Given the description of an element on the screen output the (x, y) to click on. 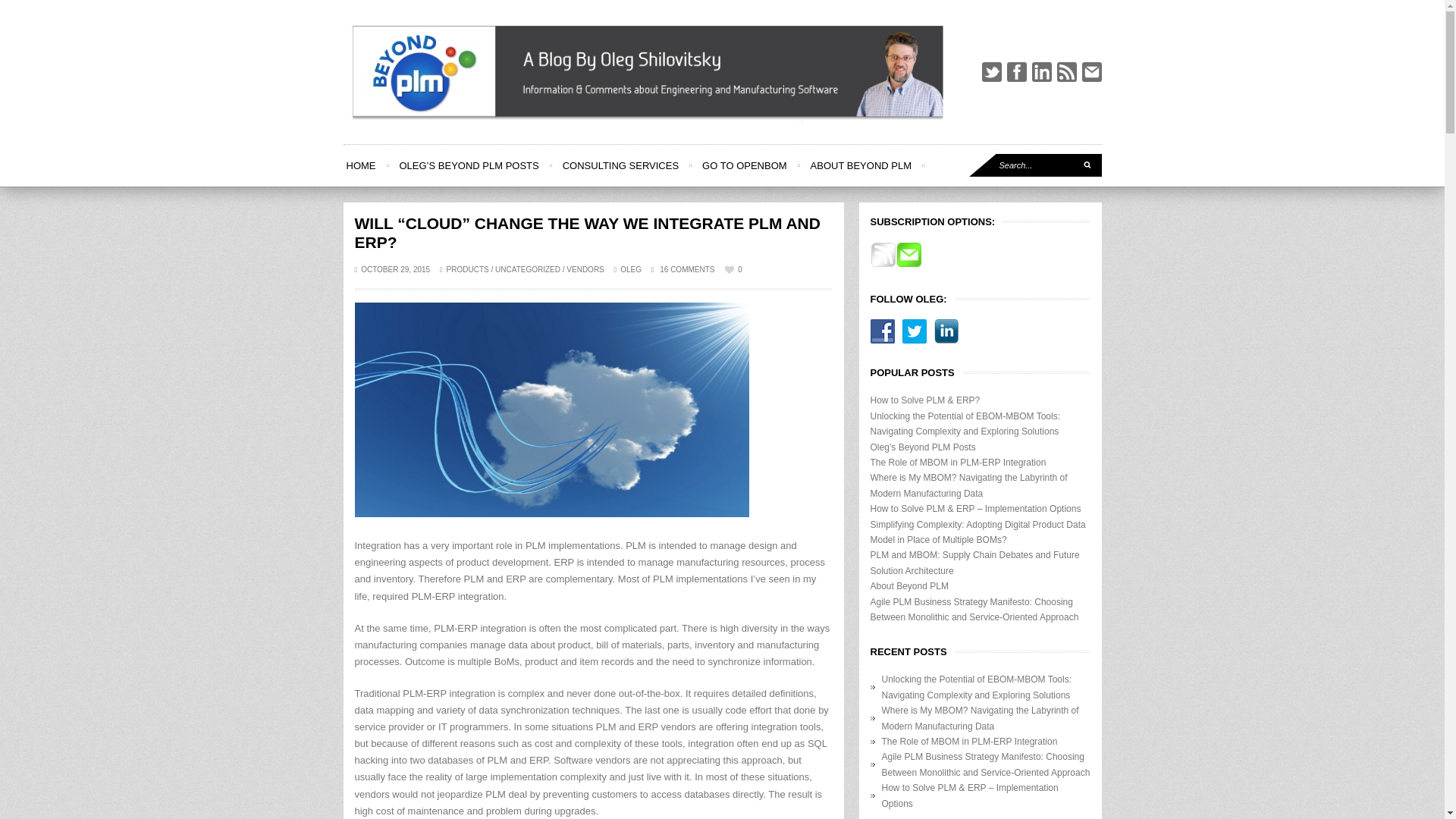
Search... (1035, 164)
Subscribe via RSS (883, 264)
CONSULTING SERVICES (620, 165)
UNCATEGORIZED (527, 269)
Subscribe via Email (908, 264)
facebook (1016, 71)
OLEG (631, 269)
VENDORS (585, 269)
Search... (1035, 164)
linkedin (1040, 71)
0 (732, 269)
twitter (991, 71)
16 COMMENTS (682, 269)
Posts by Oleg (631, 269)
GO TO OPENBOM (743, 165)
